Given the description of an element on the screen output the (x, y) to click on. 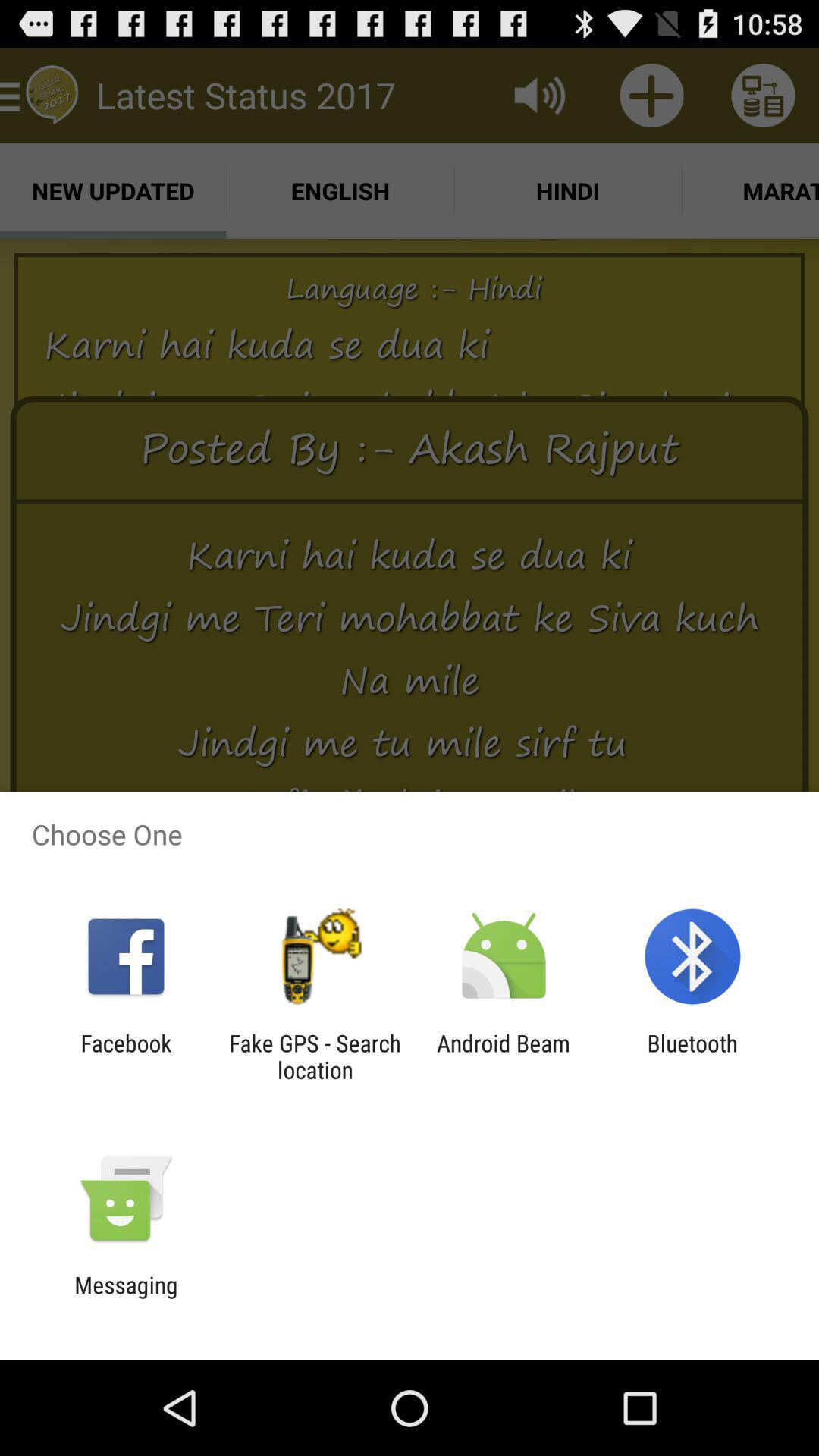
flip until the android beam item (503, 1056)
